Given the description of an element on the screen output the (x, y) to click on. 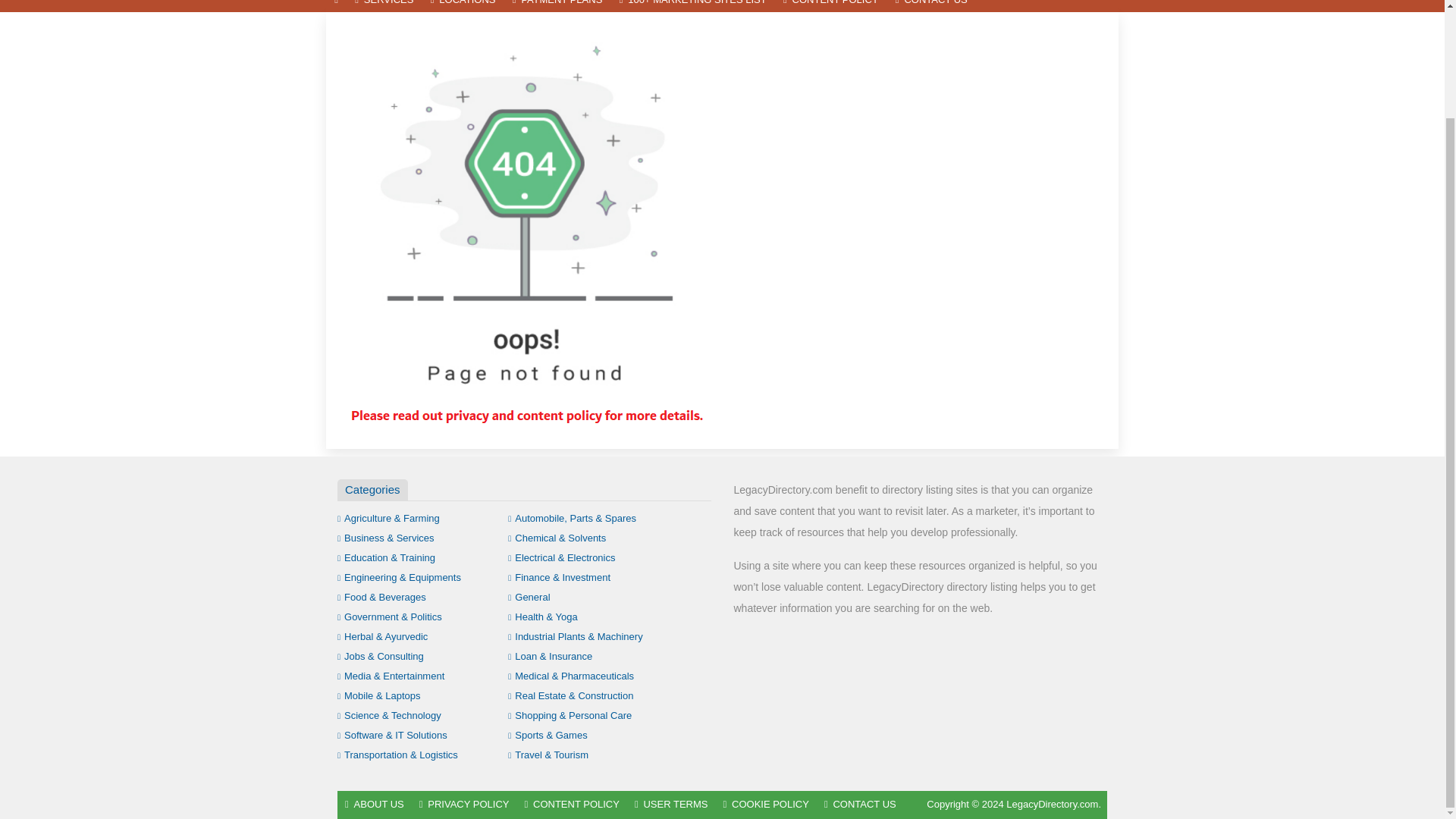
CONTACT US (930, 6)
CONTENT POLICY (830, 6)
LOCATIONS (462, 6)
PAYMENT PLANS (557, 6)
SERVICES (384, 6)
HOME (336, 6)
General (529, 596)
